Given the description of an element on the screen output the (x, y) to click on. 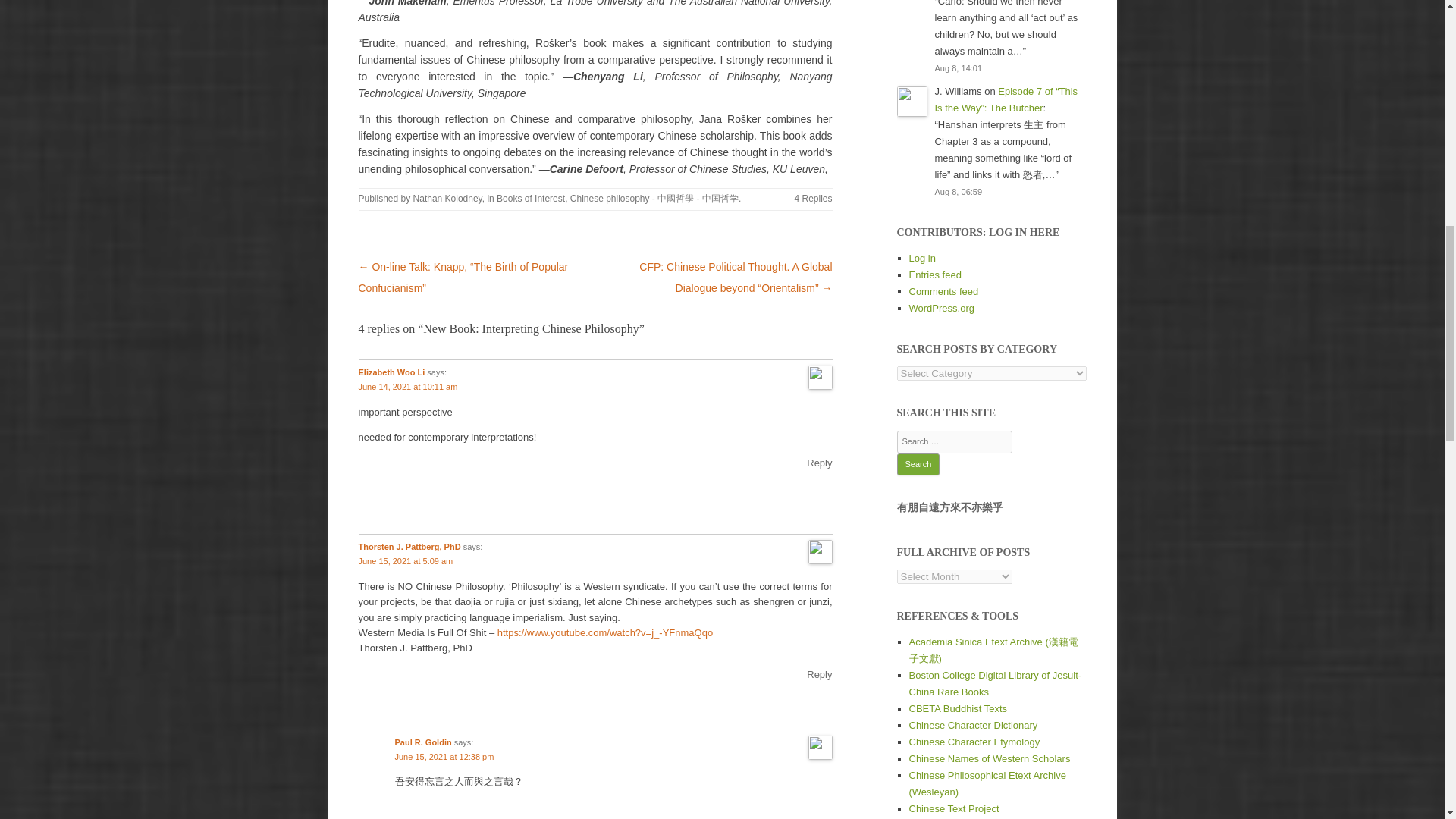
Nathan Kolodney (447, 198)
June 15, 2021 at 5:09 am (405, 560)
Chinese Buddhist Electronic Text Association (957, 708)
Search (917, 464)
Reply (818, 674)
Search (917, 464)
Books of Interest (530, 198)
Reply (818, 462)
4 Replies (812, 198)
Thorsten J. Pattberg, PhD (409, 546)
